Given the description of an element on the screen output the (x, y) to click on. 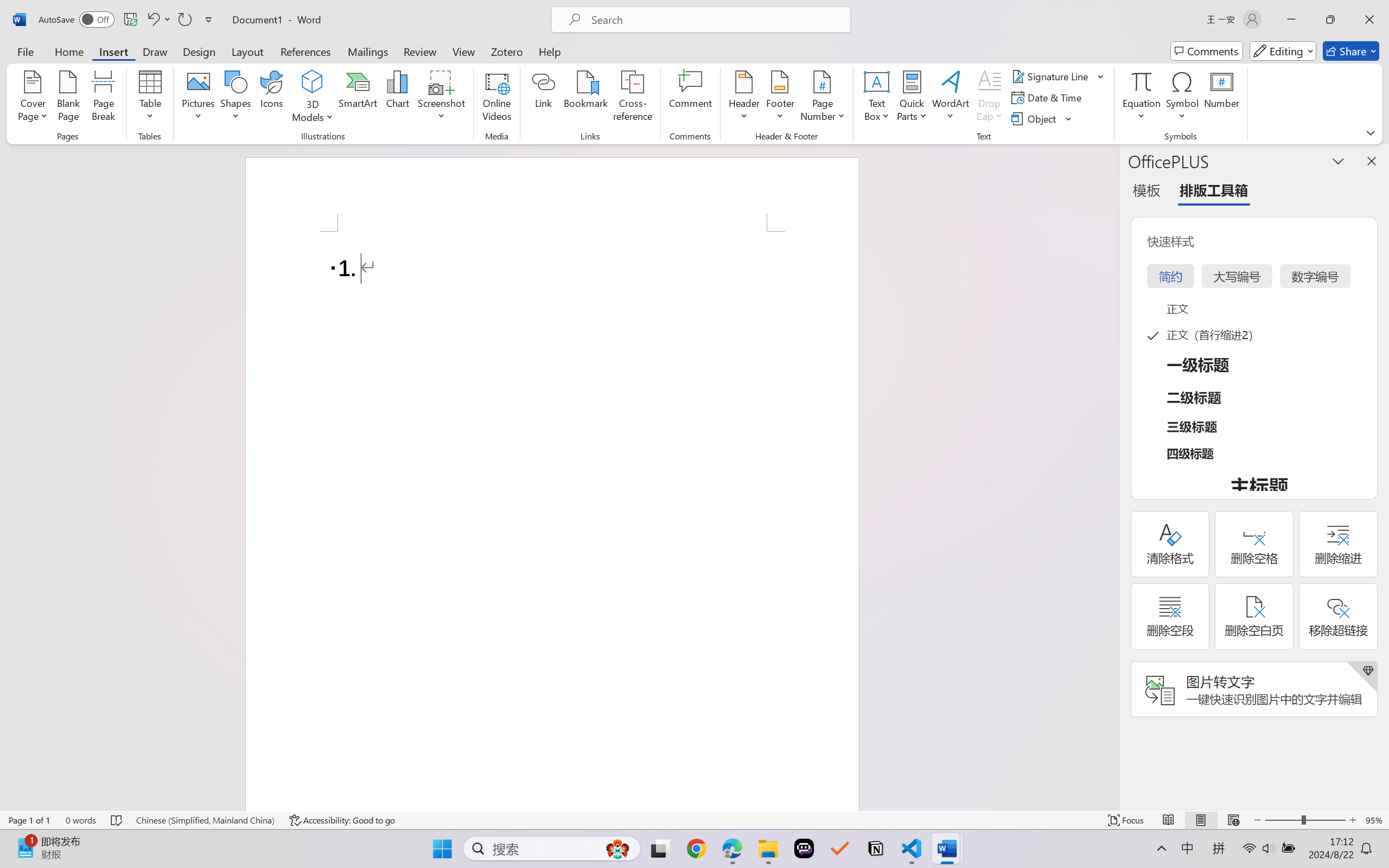
Chart... (396, 97)
Zoom 95% (1374, 819)
Equation (1141, 81)
3D Models (312, 97)
Footer (780, 97)
